Given the description of an element on the screen output the (x, y) to click on. 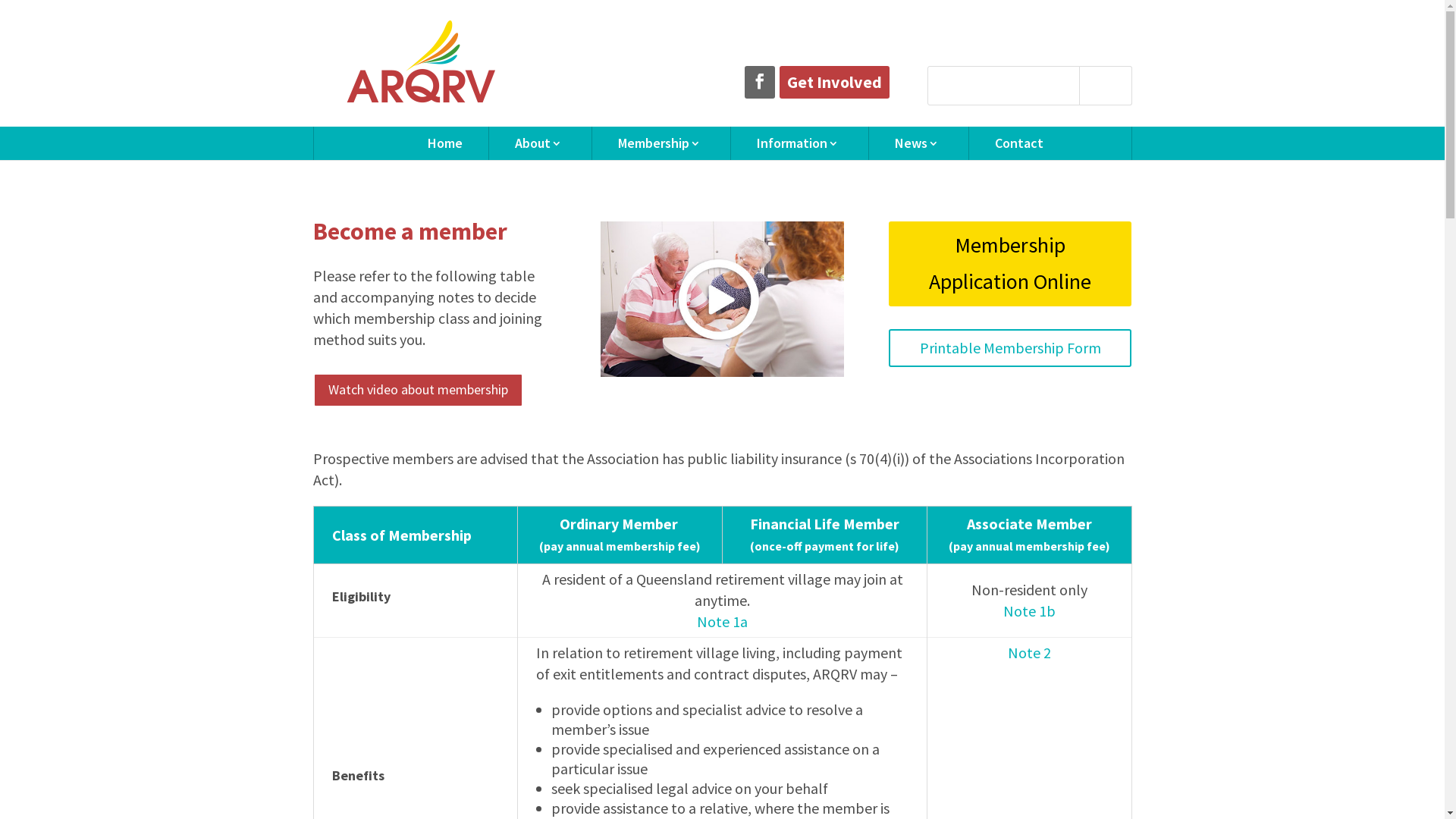
Search Element type: text (1104, 85)
Membership Application Online Element type: text (1009, 263)
Note 1a Element type: text (721, 620)
Contact Element type: text (1018, 143)
Information Element type: text (799, 143)
Note 1b Element type: text (1029, 610)
Get Involved Element type: text (834, 81)
News Element type: text (918, 143)
Note 2 Element type: text (1029, 652)
Home Element type: text (444, 143)
Watch video about membership Element type: text (417, 390)
About Element type: text (539, 143)
Membership Element type: text (660, 143)
Printable Membership Form Element type: text (1009, 348)
